Given the description of an element on the screen output the (x, y) to click on. 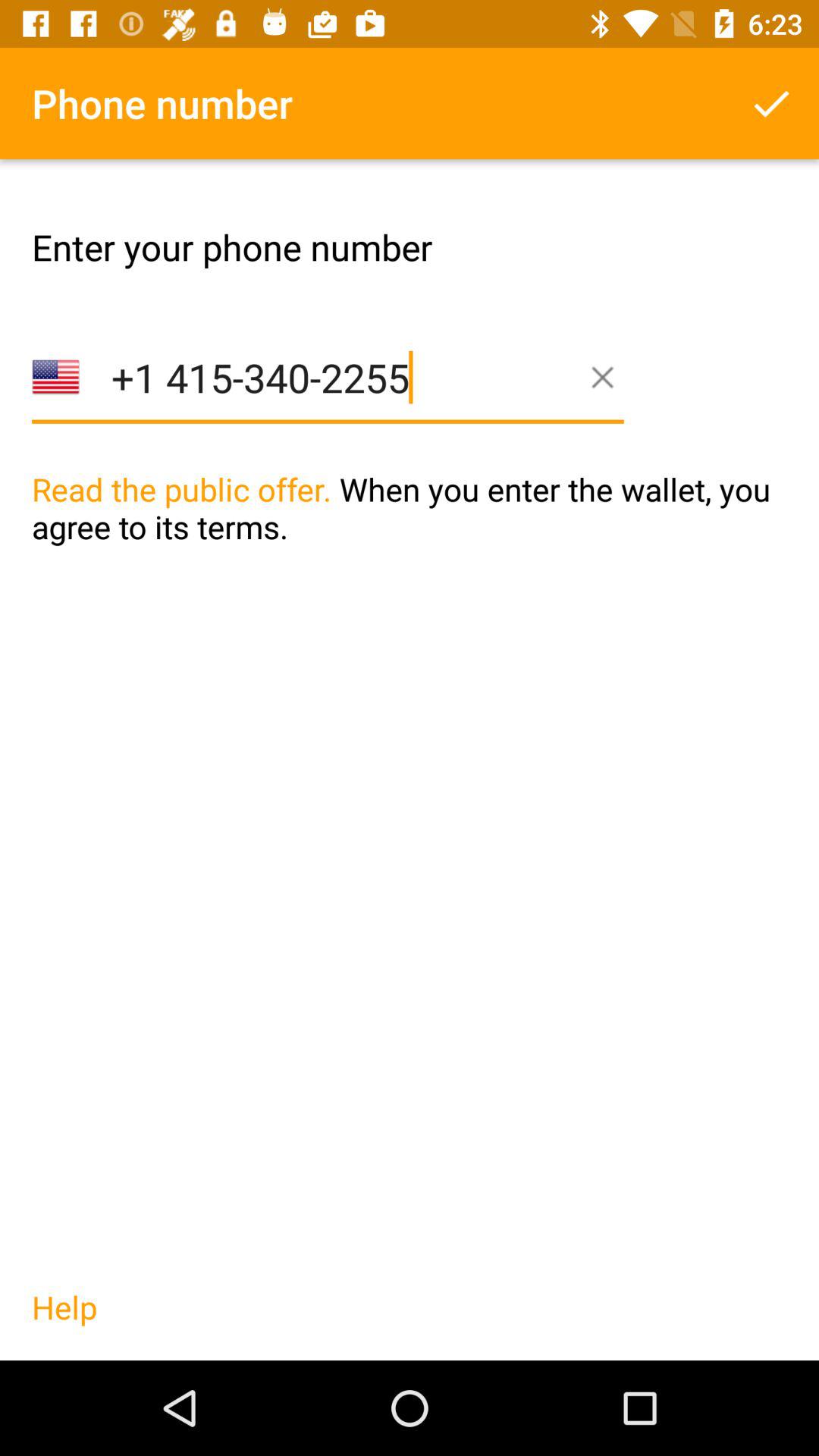
press the item at the top right corner (771, 103)
